Given the description of an element on the screen output the (x, y) to click on. 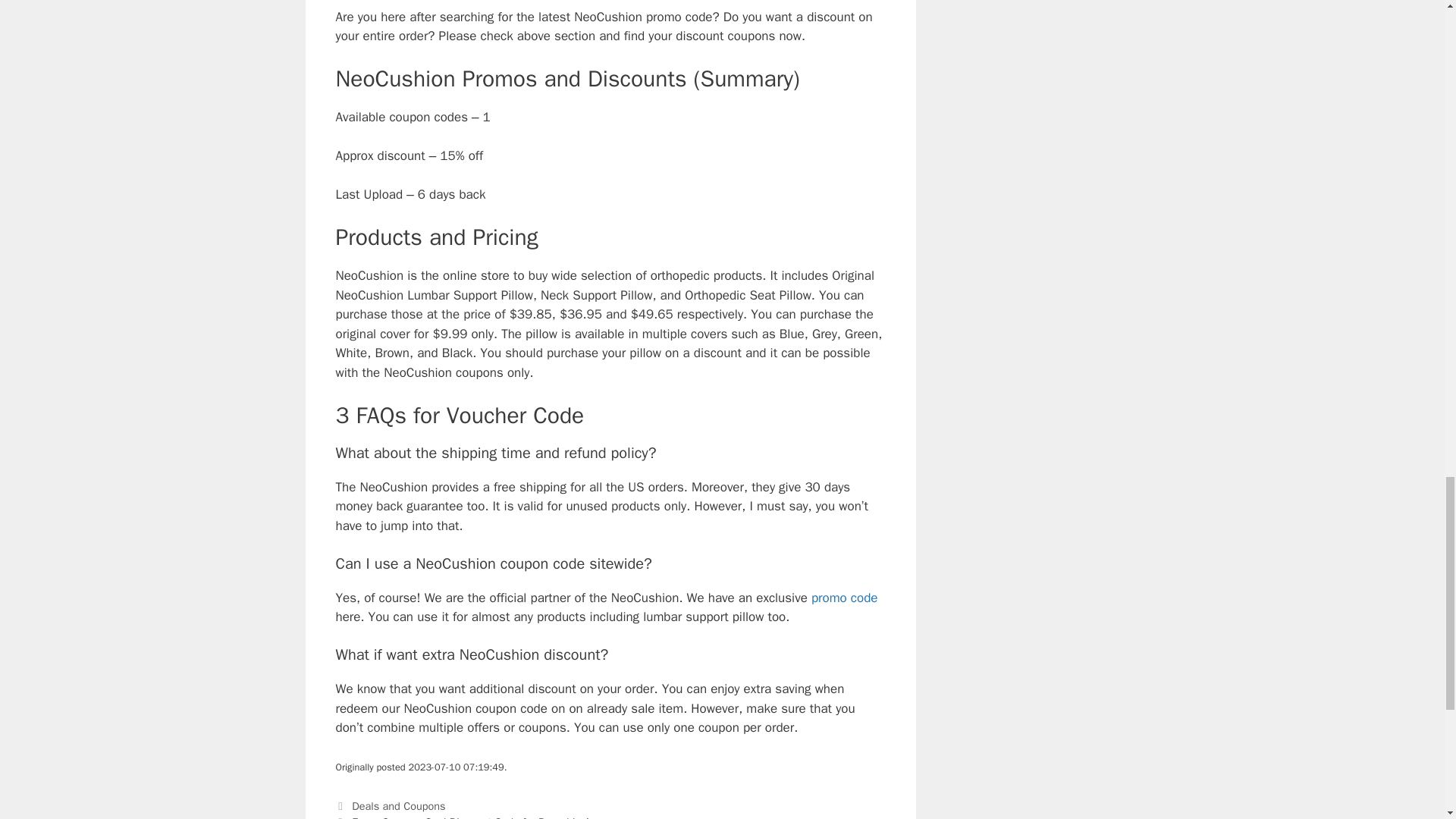
Deals and Coupons (398, 806)
promo code (843, 597)
Ezusy Coupon: Cool Discount Code for Dropship App (477, 816)
Previous (468, 816)
